Given the description of an element on the screen output the (x, y) to click on. 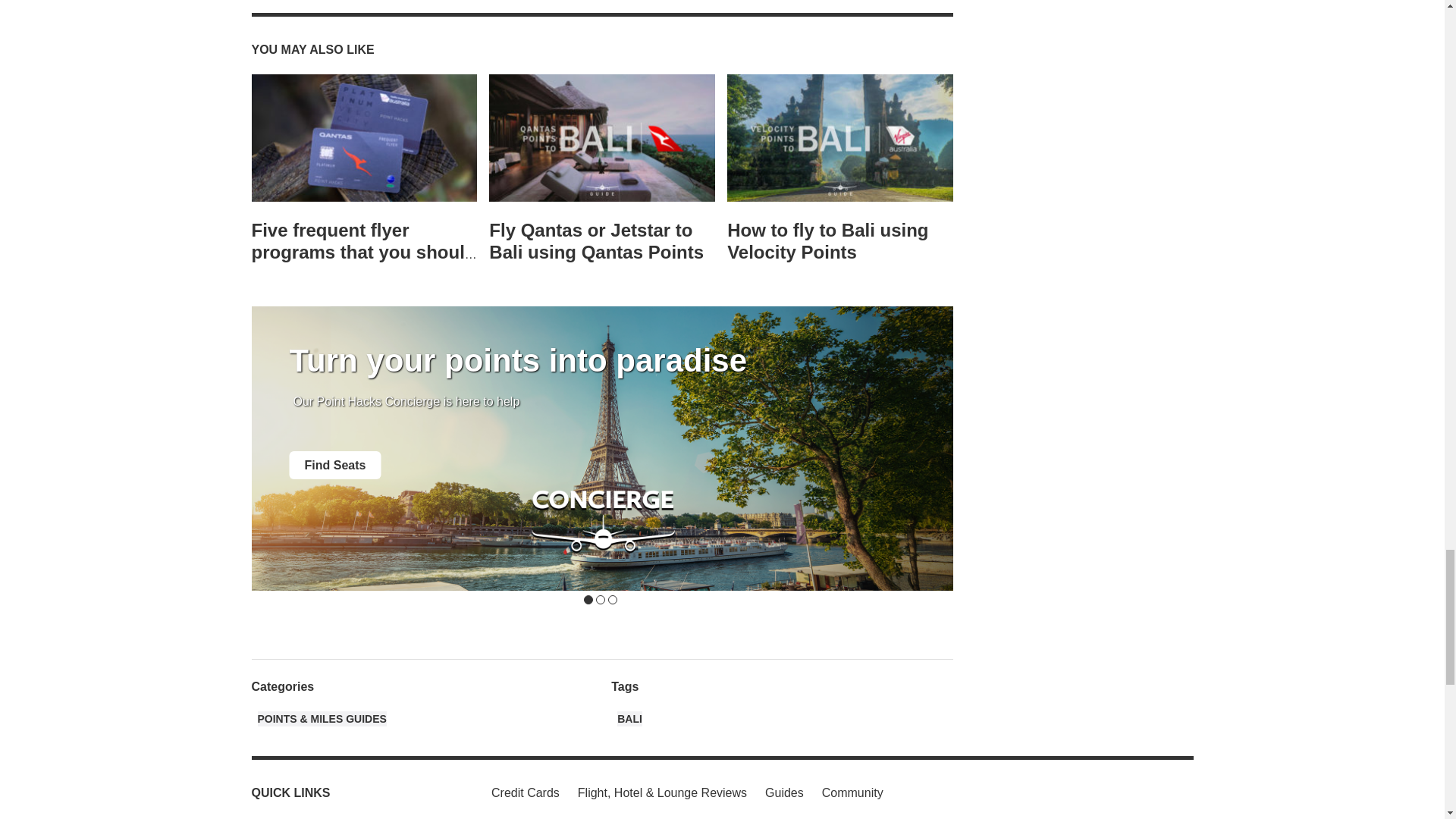
Fly Qantas or Jetstar to Bali using Qantas Points (596, 241)
How to fly to Bali using Velocity Points (827, 241)
How to fly to Bali using Velocity Points (827, 241)
Five frequent flyer programs that you should be a member of (363, 252)
Fly Qantas or Jetstar to Bali using Qantas Points (596, 241)
How to fly to Bali using Velocity Points (839, 137)
Find Seats (335, 465)
Fly Qantas or Jetstar to Bali using Qantas Points (601, 137)
BALI (629, 718)
Five frequent flyer programs that you should be a member of (364, 137)
